Given the description of an element on the screen output the (x, y) to click on. 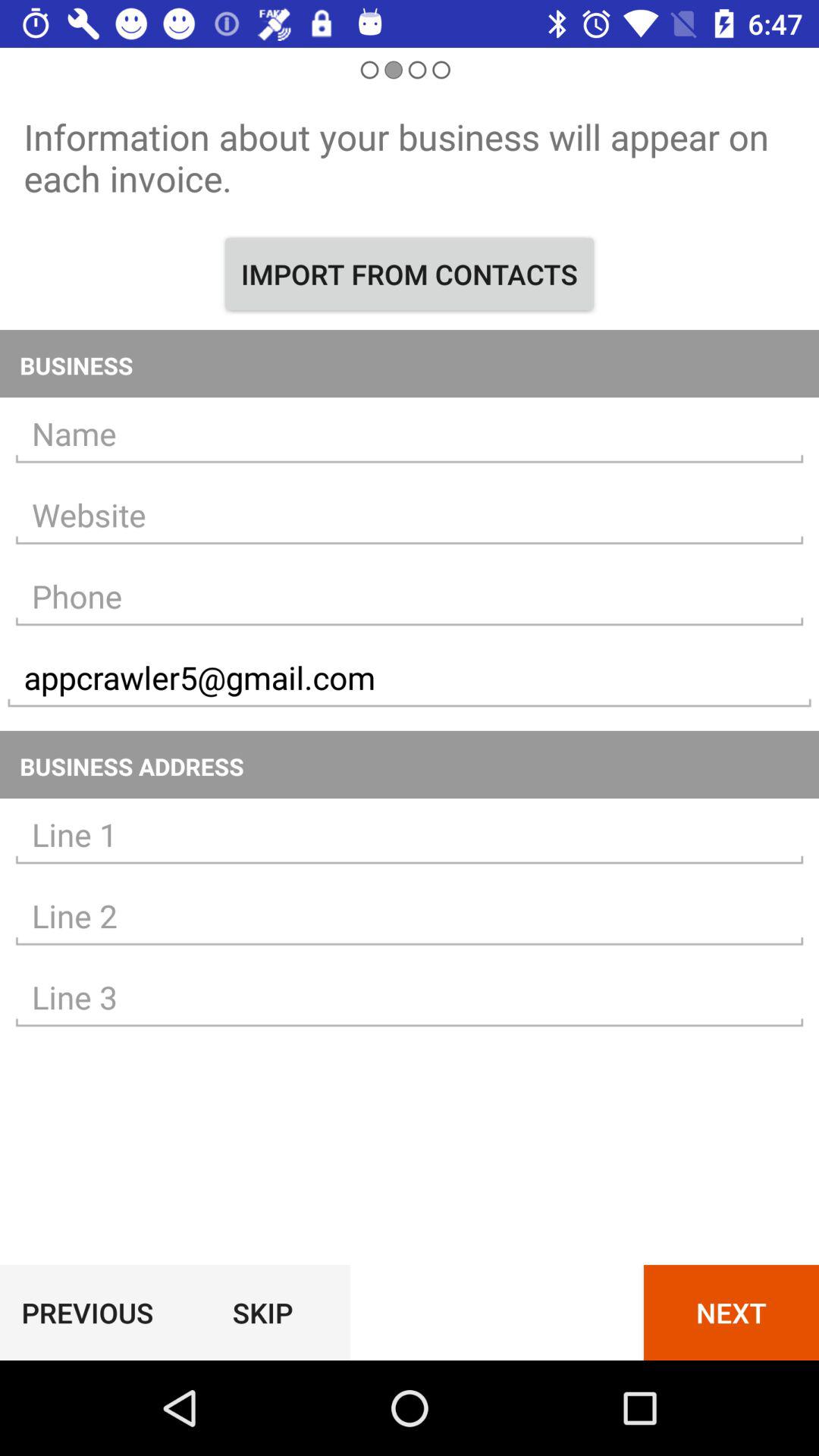
this label phone no option (409, 596)
